Given the description of an element on the screen output the (x, y) to click on. 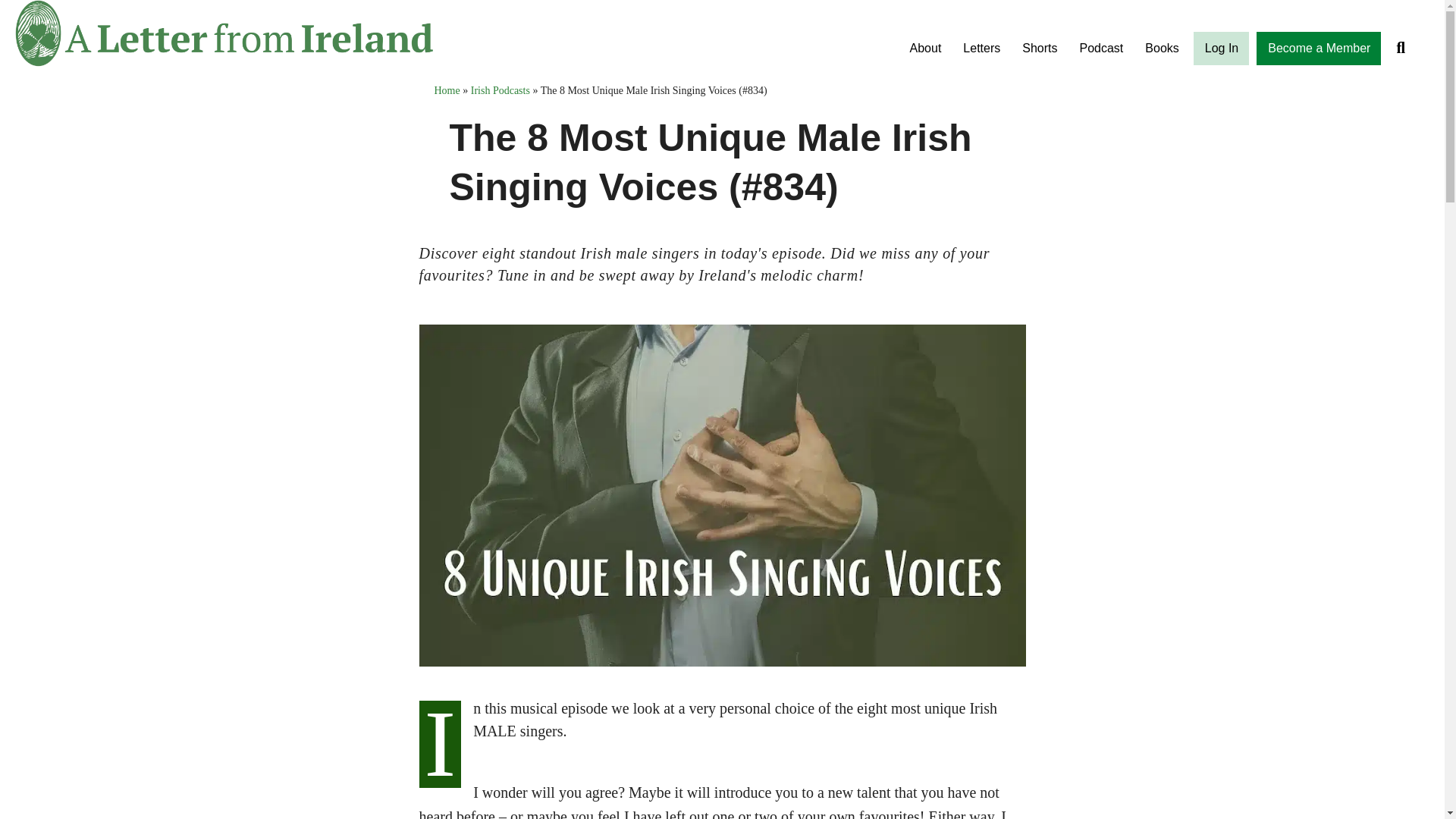
Irish Podcasts (499, 90)
Become a Member (1318, 48)
Podcast (1101, 48)
Books (1161, 48)
About (925, 48)
Home (446, 90)
Letters (981, 48)
Log In (1221, 48)
Shorts (1039, 48)
Search (1404, 47)
